Given the description of an element on the screen output the (x, y) to click on. 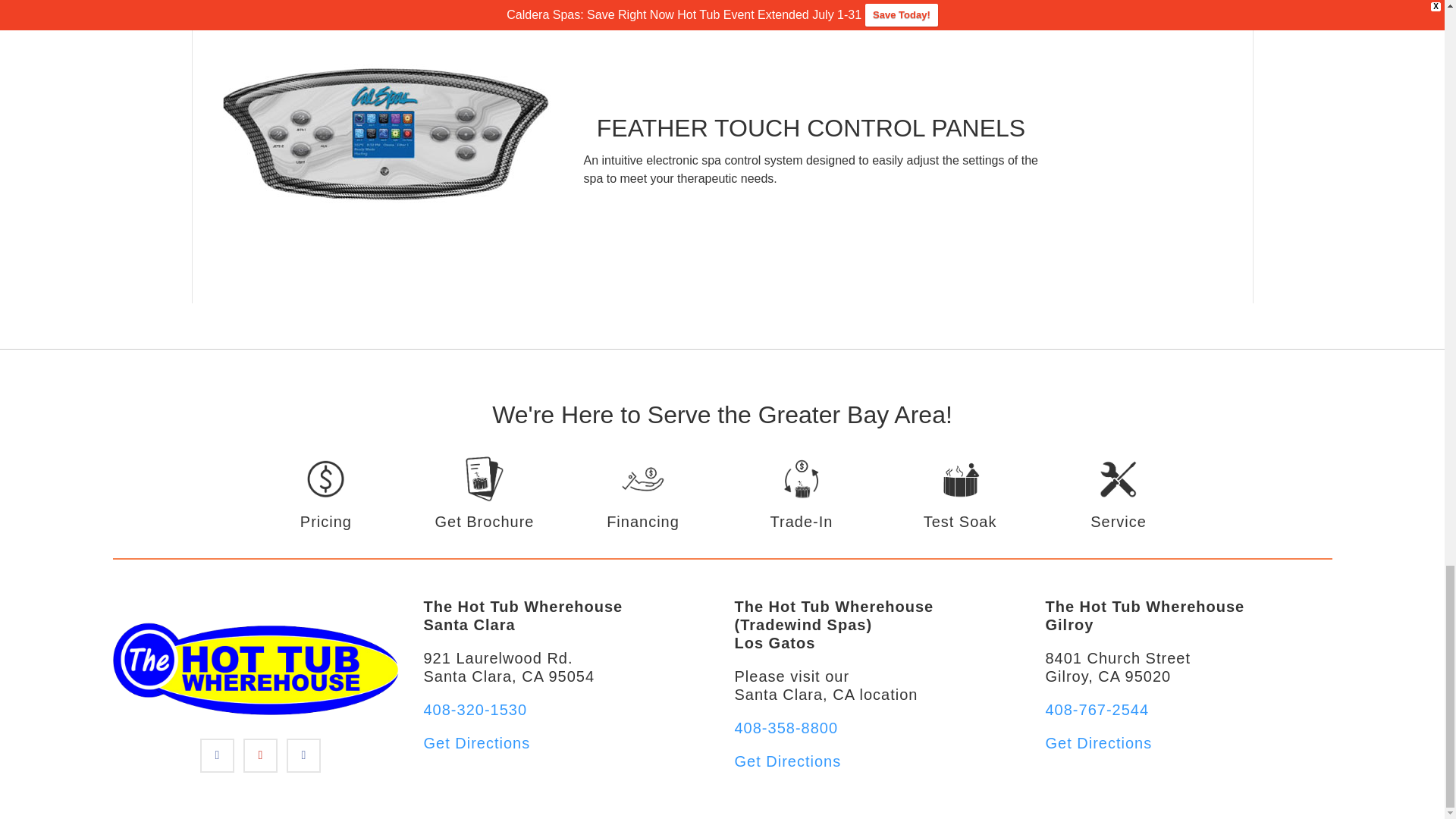
icon-Financing-dark (643, 494)
icon-Test-Soak-dark (960, 494)
icon-Brochure-dark (483, 494)
